Given the description of an element on the screen output the (x, y) to click on. 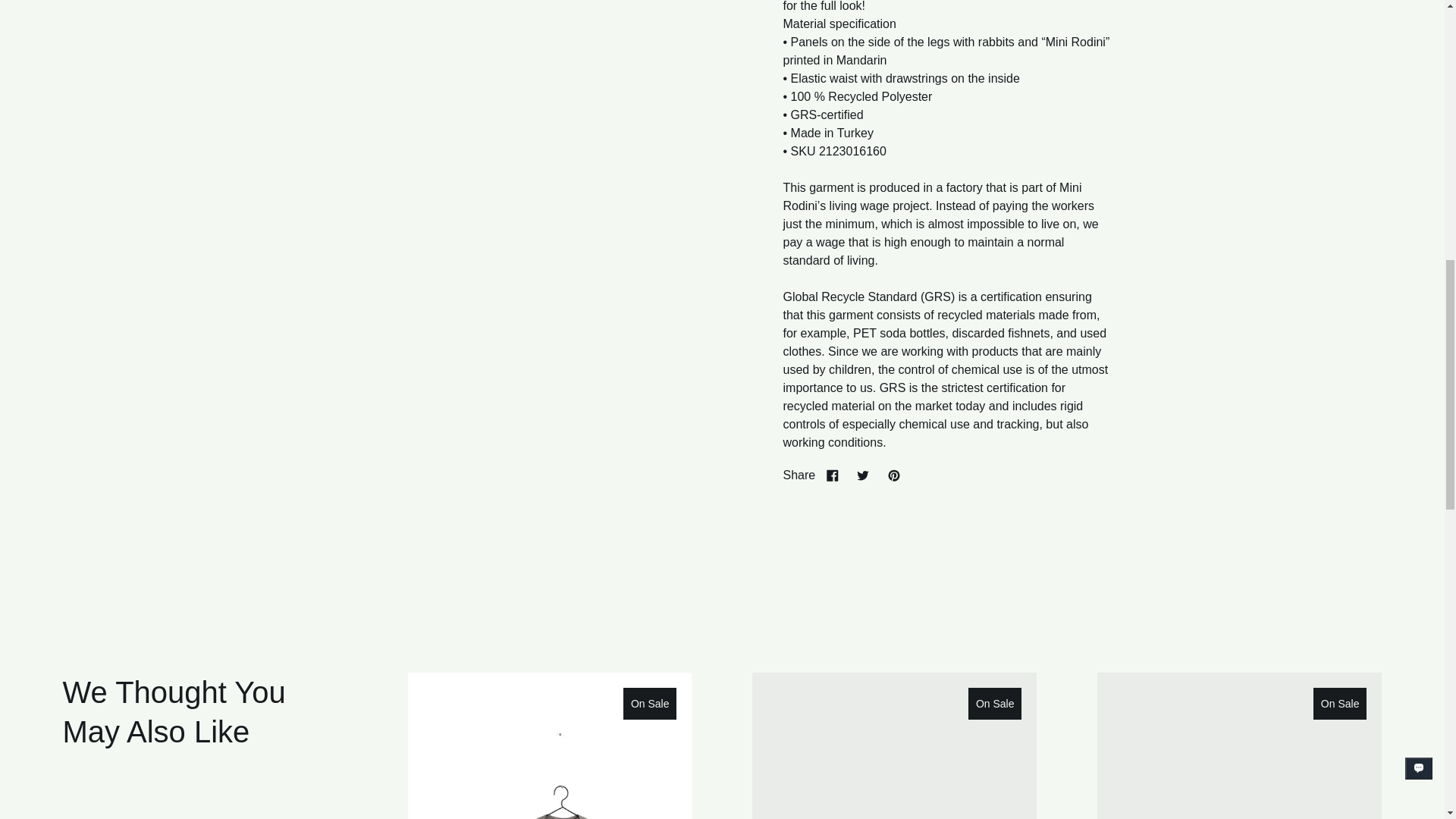
Tweet on Twitter (862, 475)
Share on Facebook (831, 475)
Pin on Pinterest (893, 475)
